Given the description of an element on the screen output the (x, y) to click on. 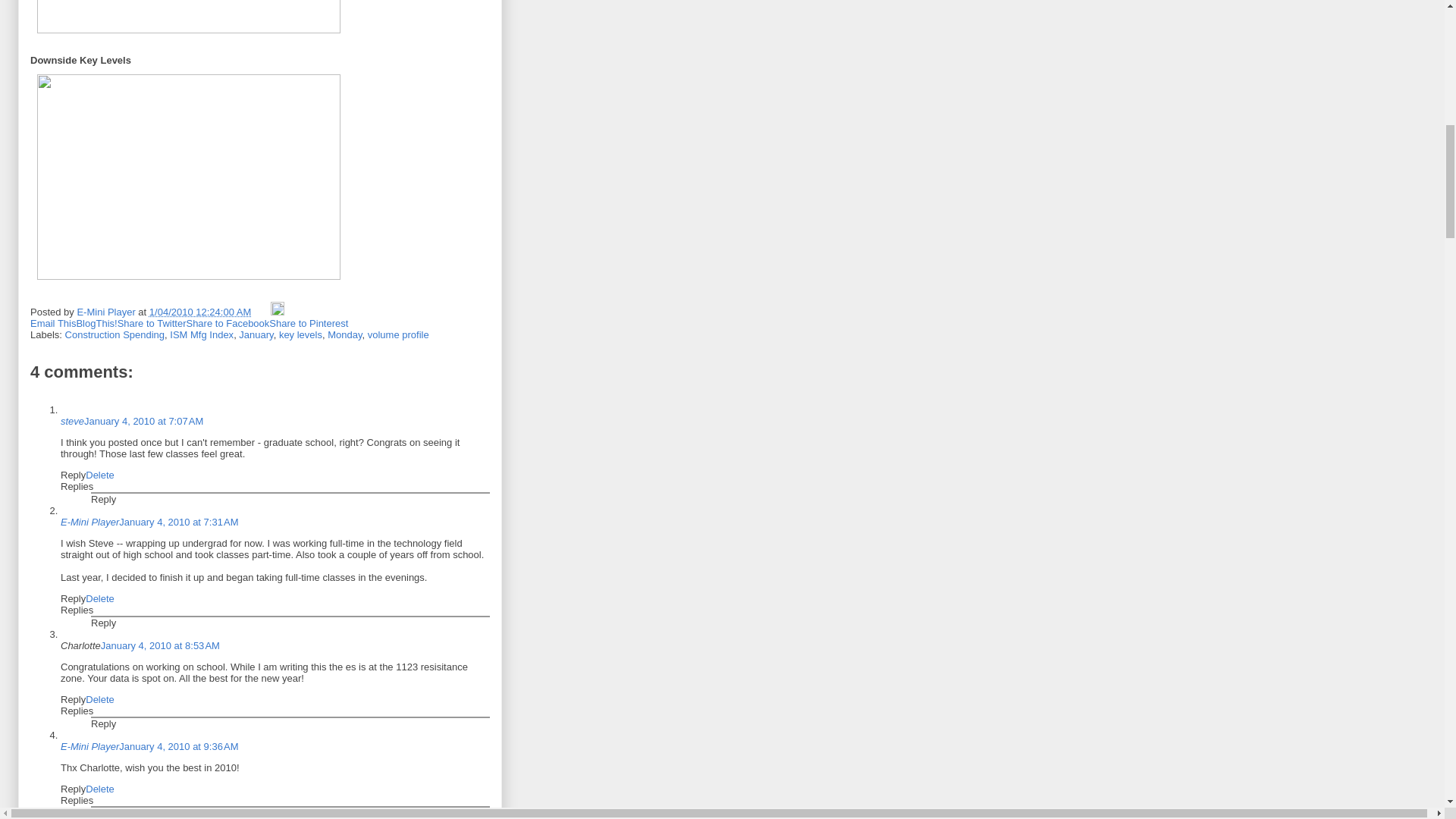
Delete (100, 699)
BlogThis! (95, 323)
Share to Twitter (151, 323)
Delete (100, 474)
Reply (73, 699)
key levels (300, 334)
Monday (344, 334)
permanent link (199, 311)
Share to Twitter (151, 323)
Replies (77, 609)
E-Mini Player (107, 311)
author profile (107, 311)
Email This (52, 323)
